Given the description of an element on the screen output the (x, y) to click on. 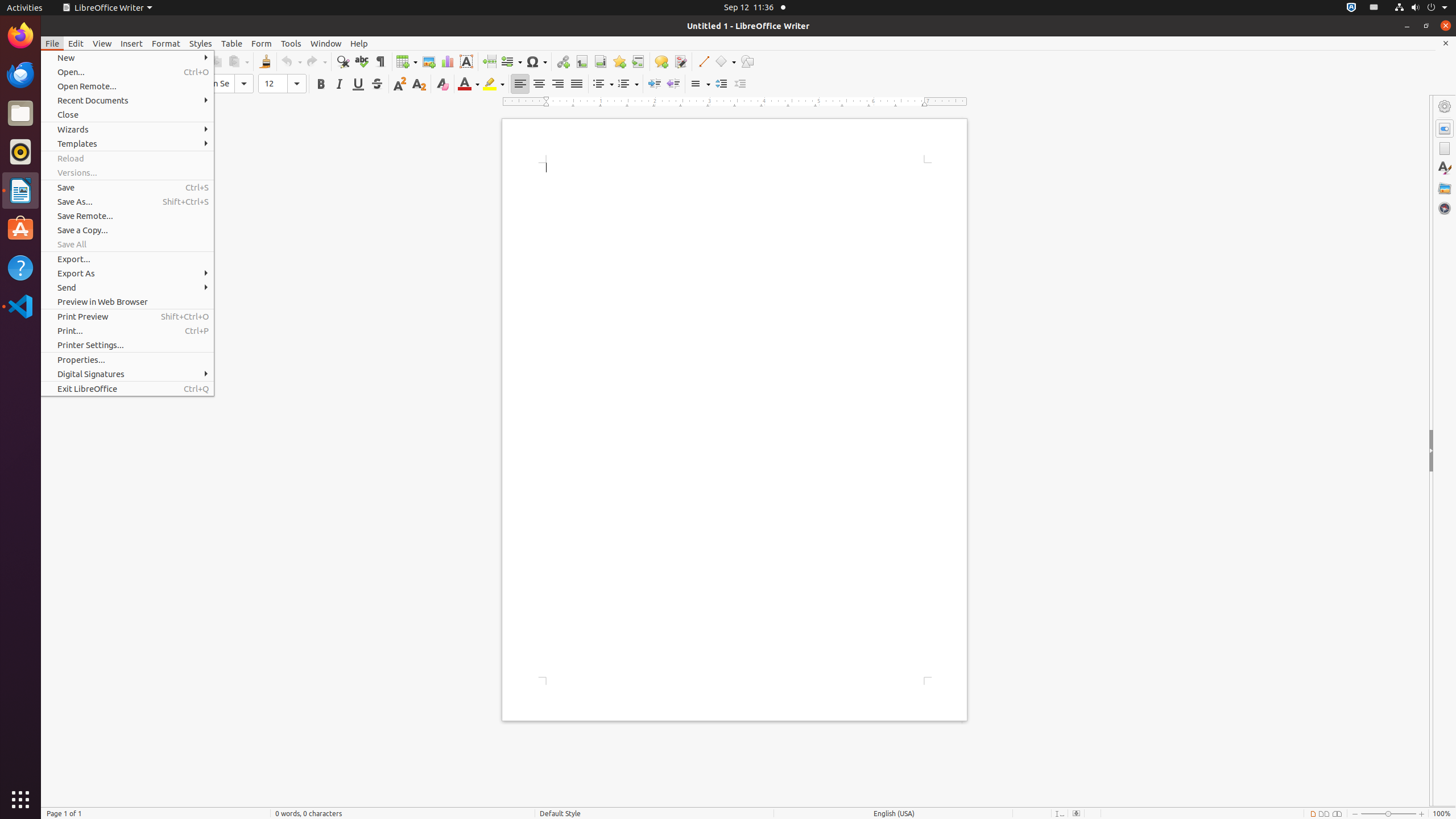
Table Element type: menu (231, 43)
Left Element type: toggle-button (519, 83)
Line Element type: toggle-button (702, 61)
Reload Element type: menu-item (126, 158)
Chart Element type: push-button (446, 61)
